Given the description of an element on the screen output the (x, y) to click on. 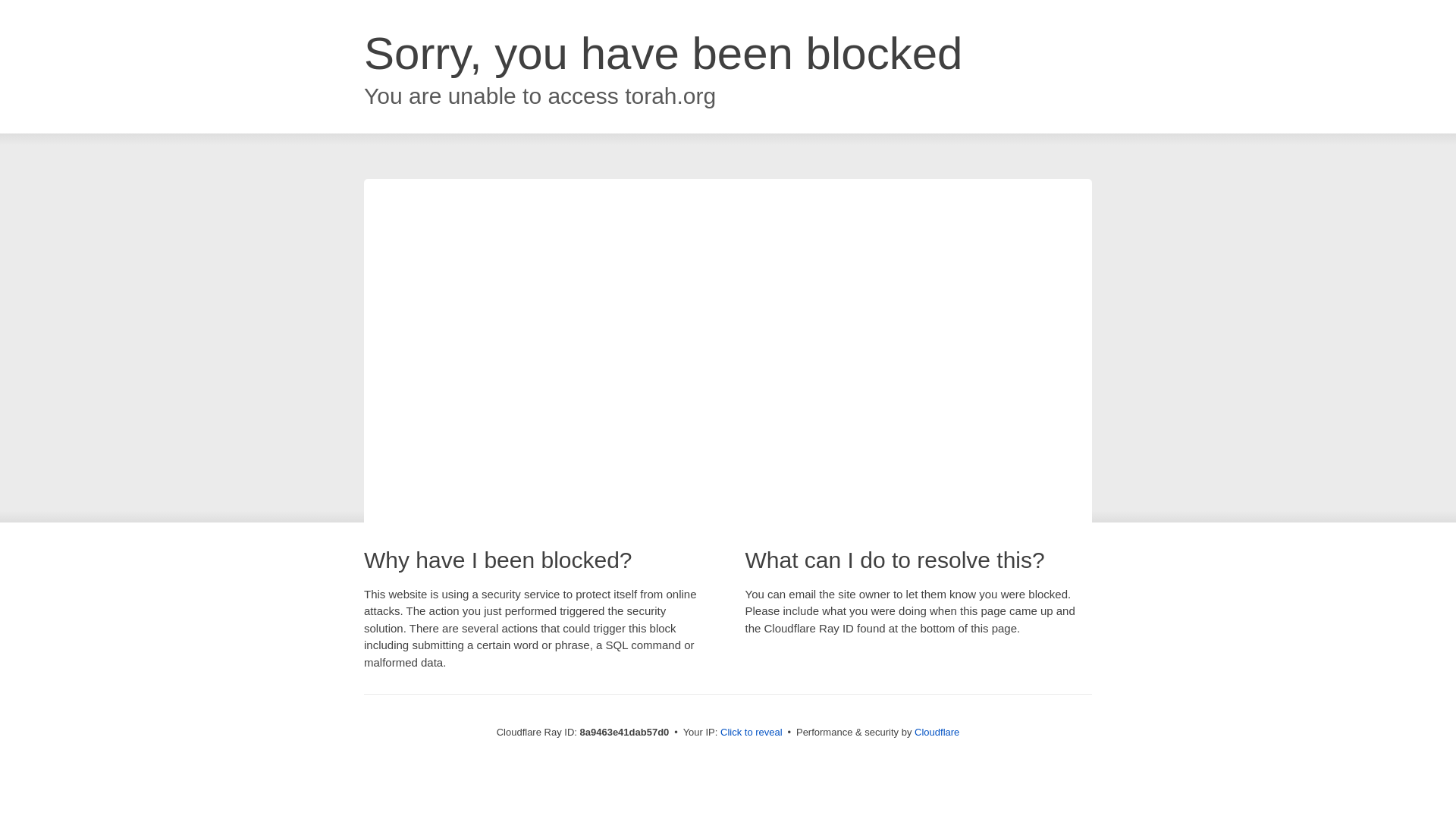
Cloudflare (936, 731)
Click to reveal (751, 732)
